Given the description of an element on the screen output the (x, y) to click on. 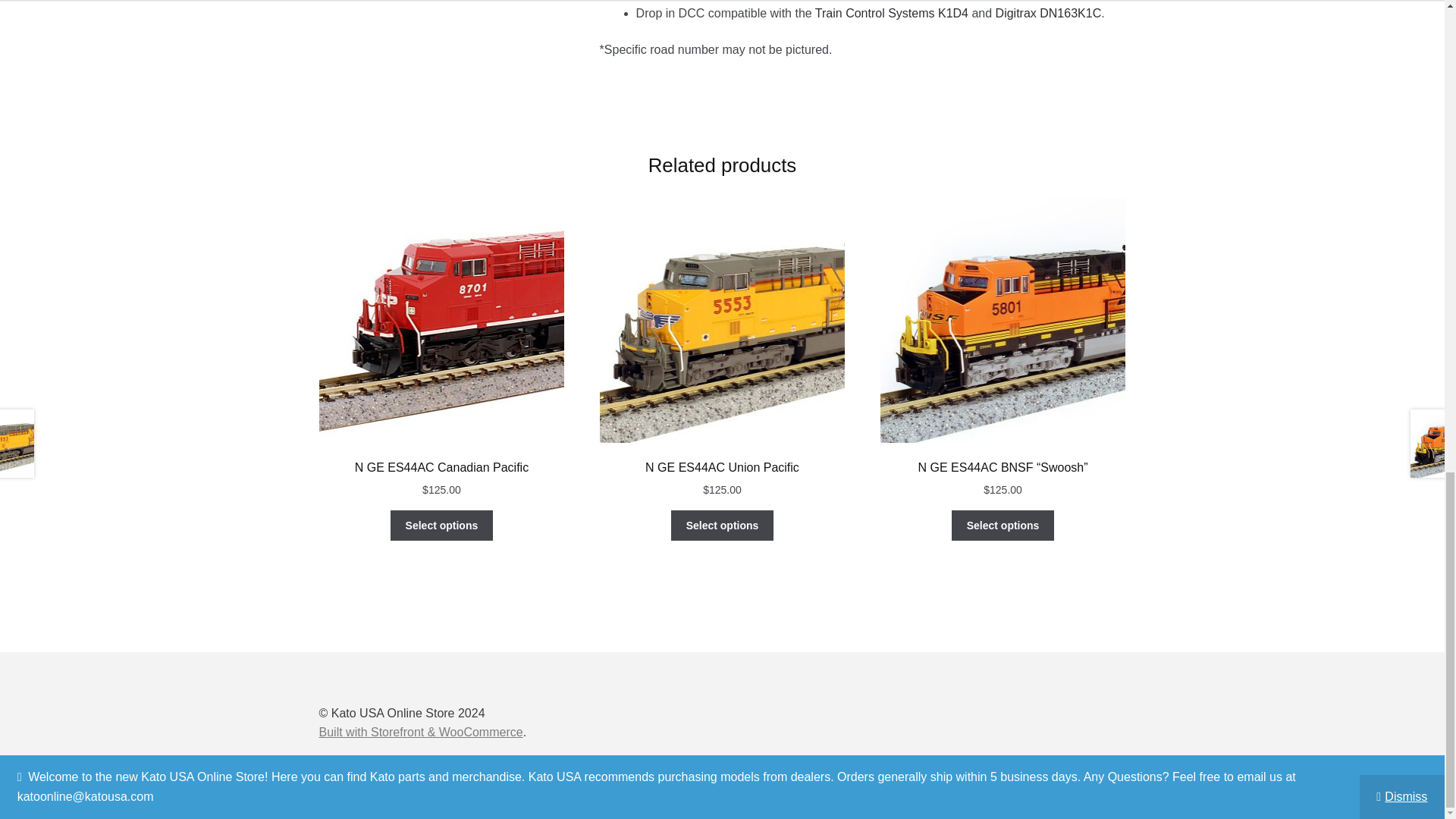
Train Control Systems K1D4 (891, 12)
Digitrax DN163K1C (1048, 12)
WooCommerce - The Best eCommerce Platform for WordPress (420, 731)
